Given the description of an element on the screen output the (x, y) to click on. 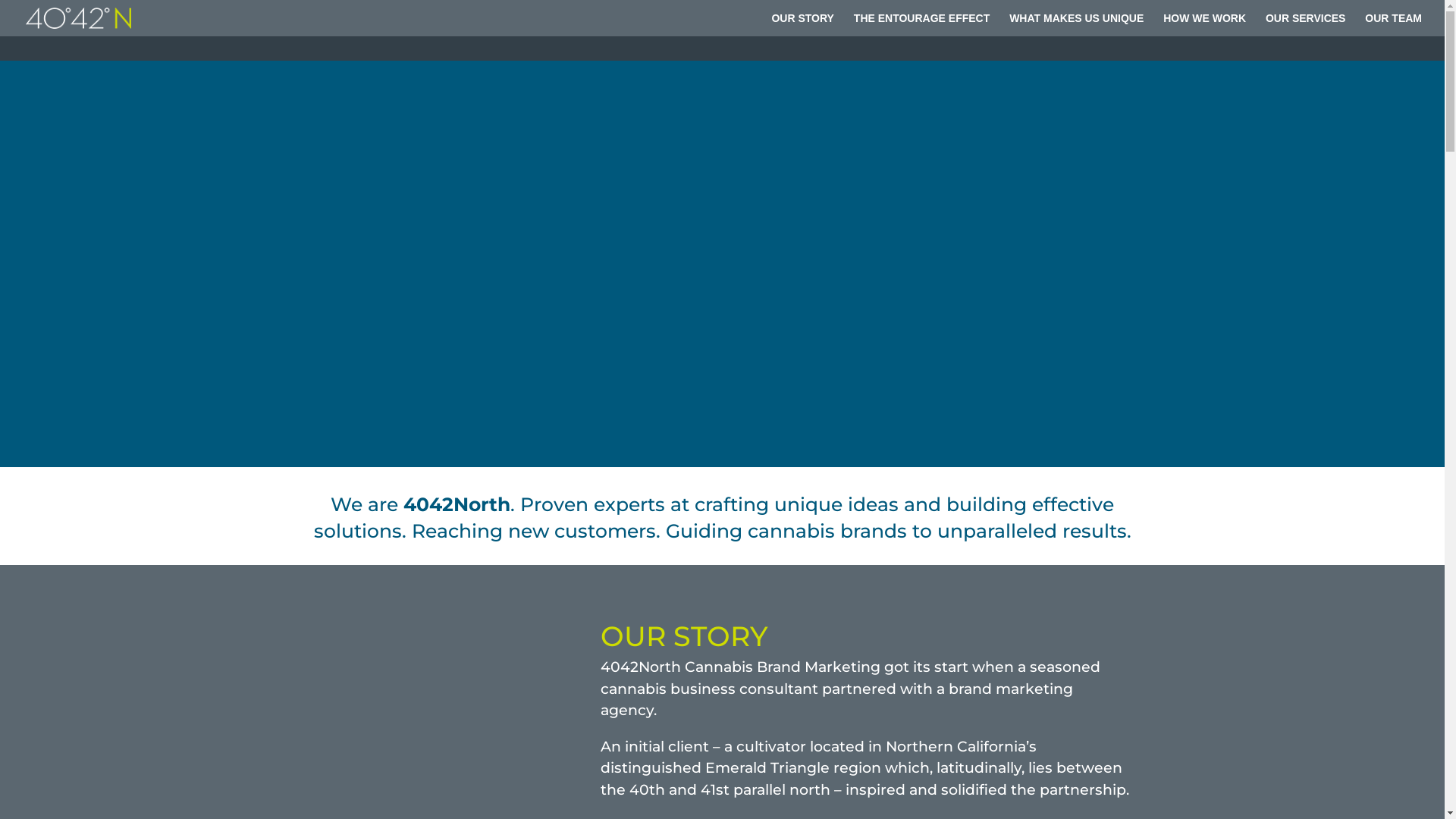
THE ENTOURAGE EFFECT Element type: text (921, 24)
HOW WE WORK Element type: text (1204, 24)
OUR SERVICES Element type: text (1305, 24)
WHAT MAKES US UNIQUE Element type: text (1076, 24)
OUR STORY Element type: text (802, 24)
OUR TEAM Element type: text (1393, 24)
